Given the description of an element on the screen output the (x, y) to click on. 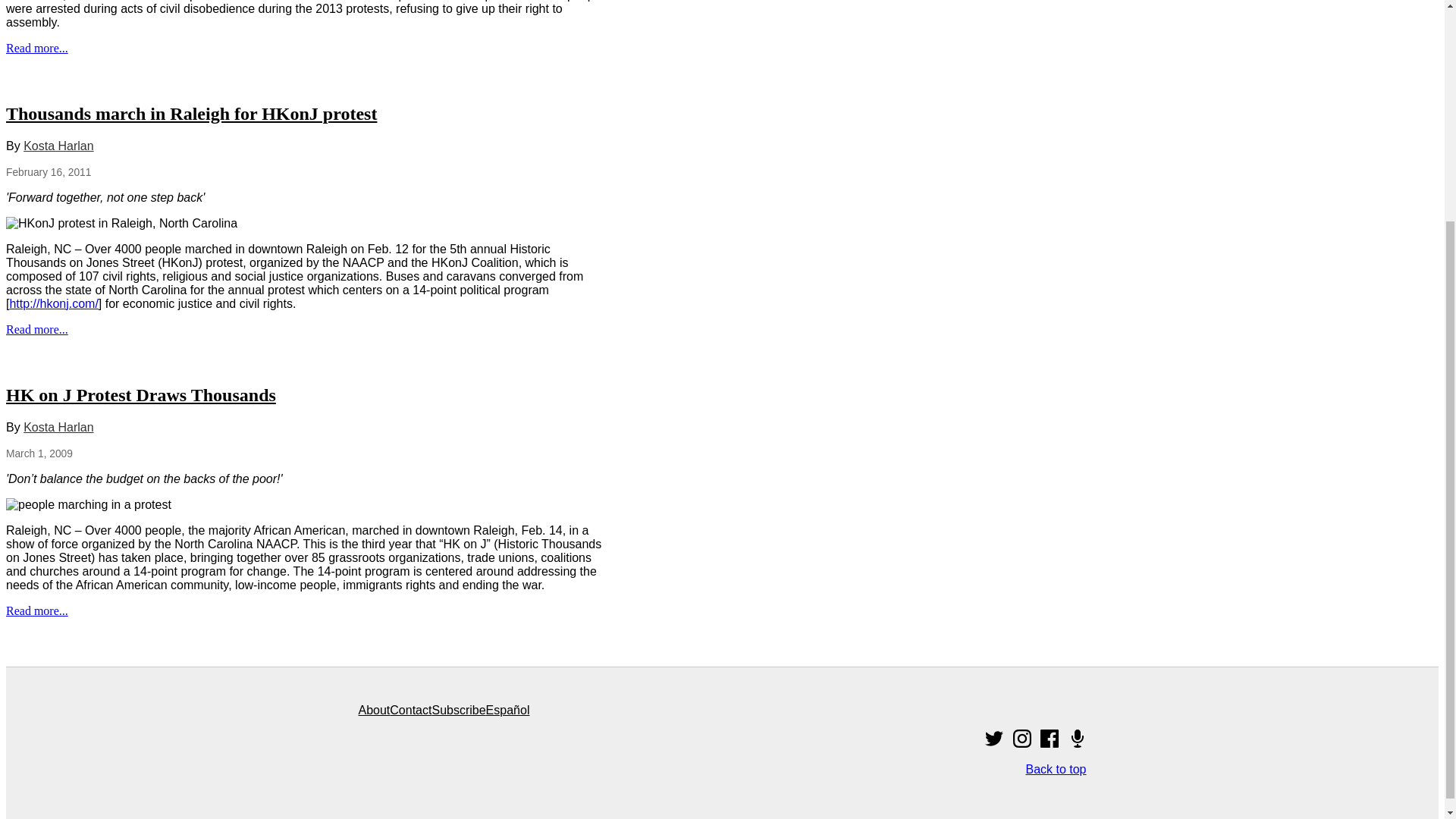
Read more... (36, 609)
Kosta Harlan (58, 145)
Read more... (36, 47)
HK on J Protest Draws Thousands (140, 394)
Read more... (36, 328)
Kosta Harlan (58, 426)
Thousands march in Raleigh for HKonJ protest (191, 113)
